Given the description of an element on the screen output the (x, y) to click on. 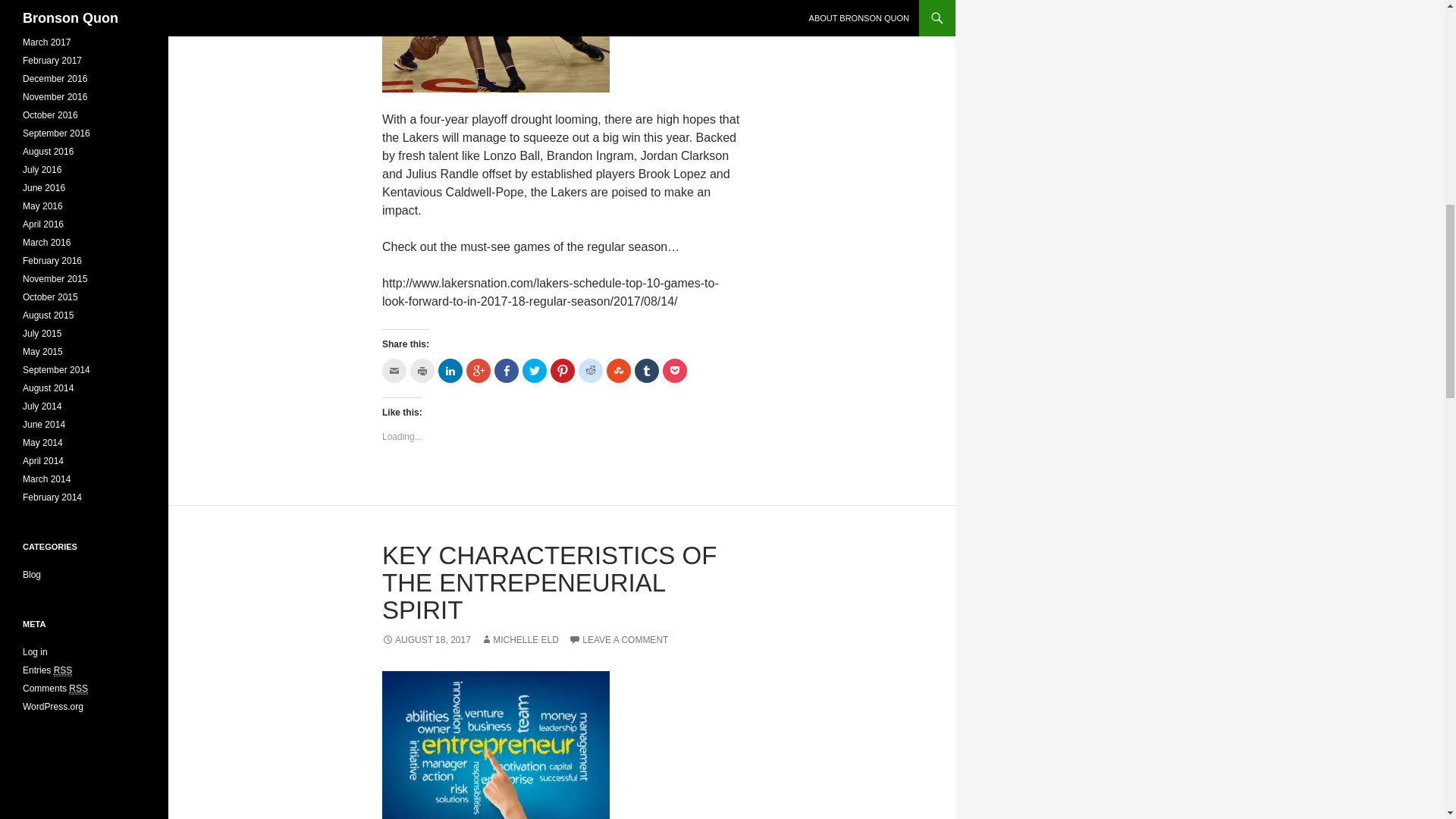
Click to email this to a friend (393, 370)
KEY CHARACTERISTICS OF THE ENTREPENEURIAL SPIRIT (548, 582)
Click to print (421, 370)
